Given the description of an element on the screen output the (x, y) to click on. 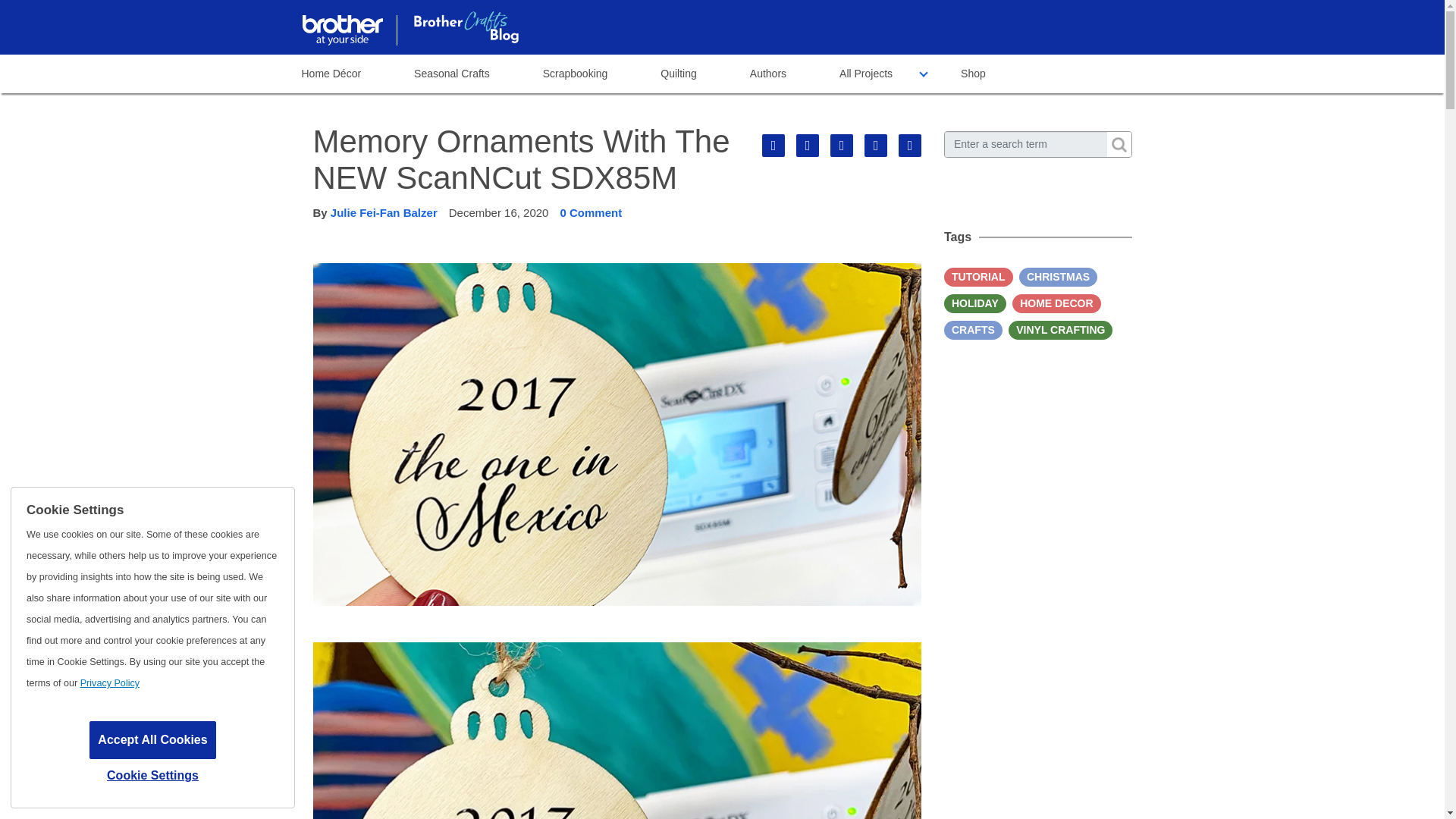
Authors (767, 73)
VINYL CRAFTING (1060, 330)
Scrapbooking (575, 73)
0 Comment (590, 212)
HOLIDAY (974, 303)
TUTORIAL (978, 276)
CHRISTMAS (1058, 276)
All Projects (865, 73)
Quilting (677, 73)
By Julie Fei-Fan Balzer (374, 212)
